Given the description of an element on the screen output the (x, y) to click on. 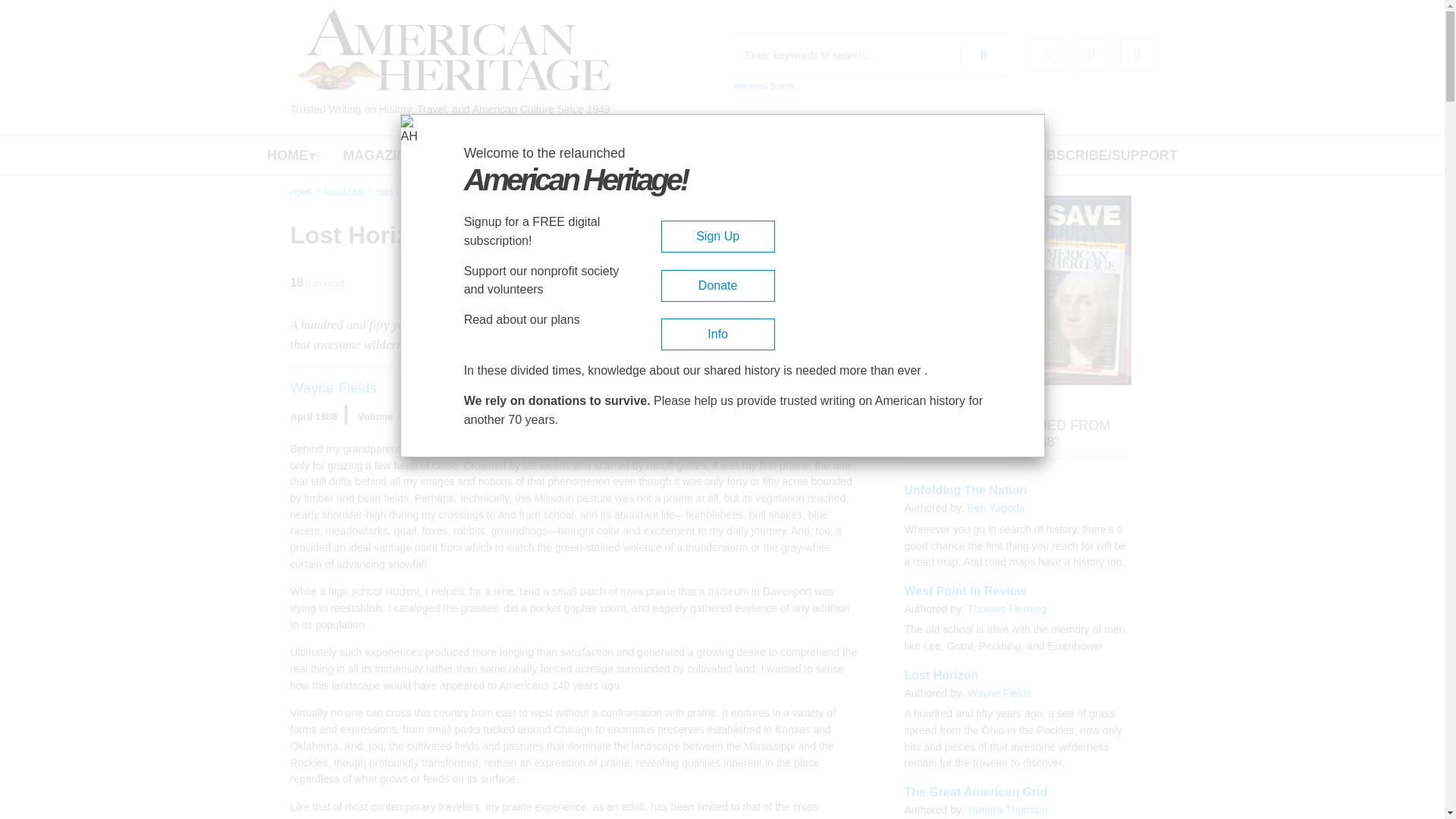
Home (453, 50)
Search (982, 54)
Search (982, 54)
Advanced Search (763, 85)
Search (982, 54)
RSS (1136, 54)
Facebook (1045, 54)
Twitter (1091, 54)
Enter the terms you wish to search for. (870, 55)
